Given the description of an element on the screen output the (x, y) to click on. 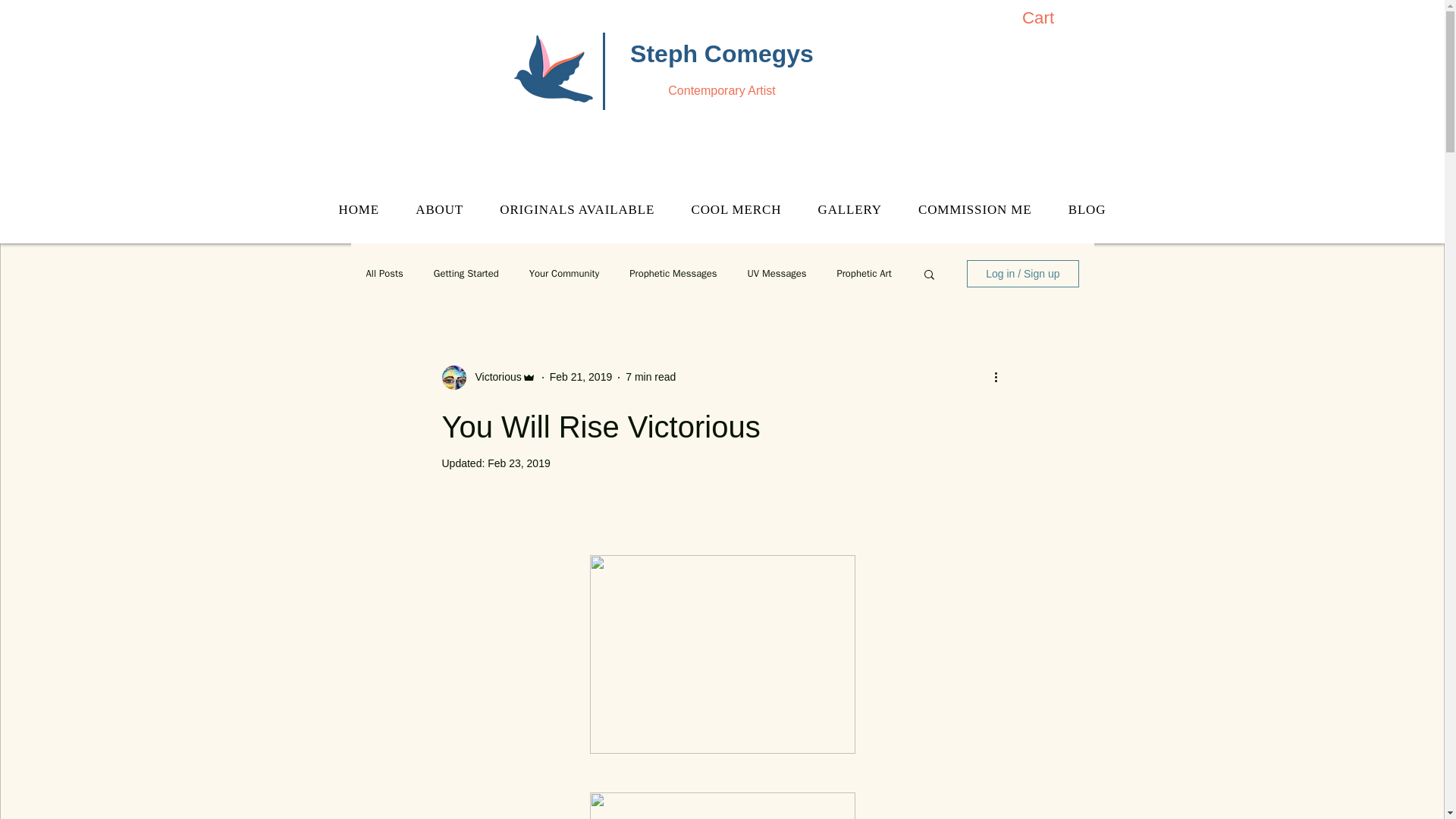
7 min read (650, 377)
All Posts (384, 273)
ORIGINALS AVAILABLE (576, 209)
GALLERY (849, 209)
Prophetic Art (863, 273)
COOL MERCH (735, 209)
Victorious (493, 376)
Your Community (563, 273)
Prophetic Messages (672, 273)
Getting Started (466, 273)
ABOUT (439, 209)
Cart (1051, 17)
Cart (1051, 17)
UV Messages (777, 273)
